Given the description of an element on the screen output the (x, y) to click on. 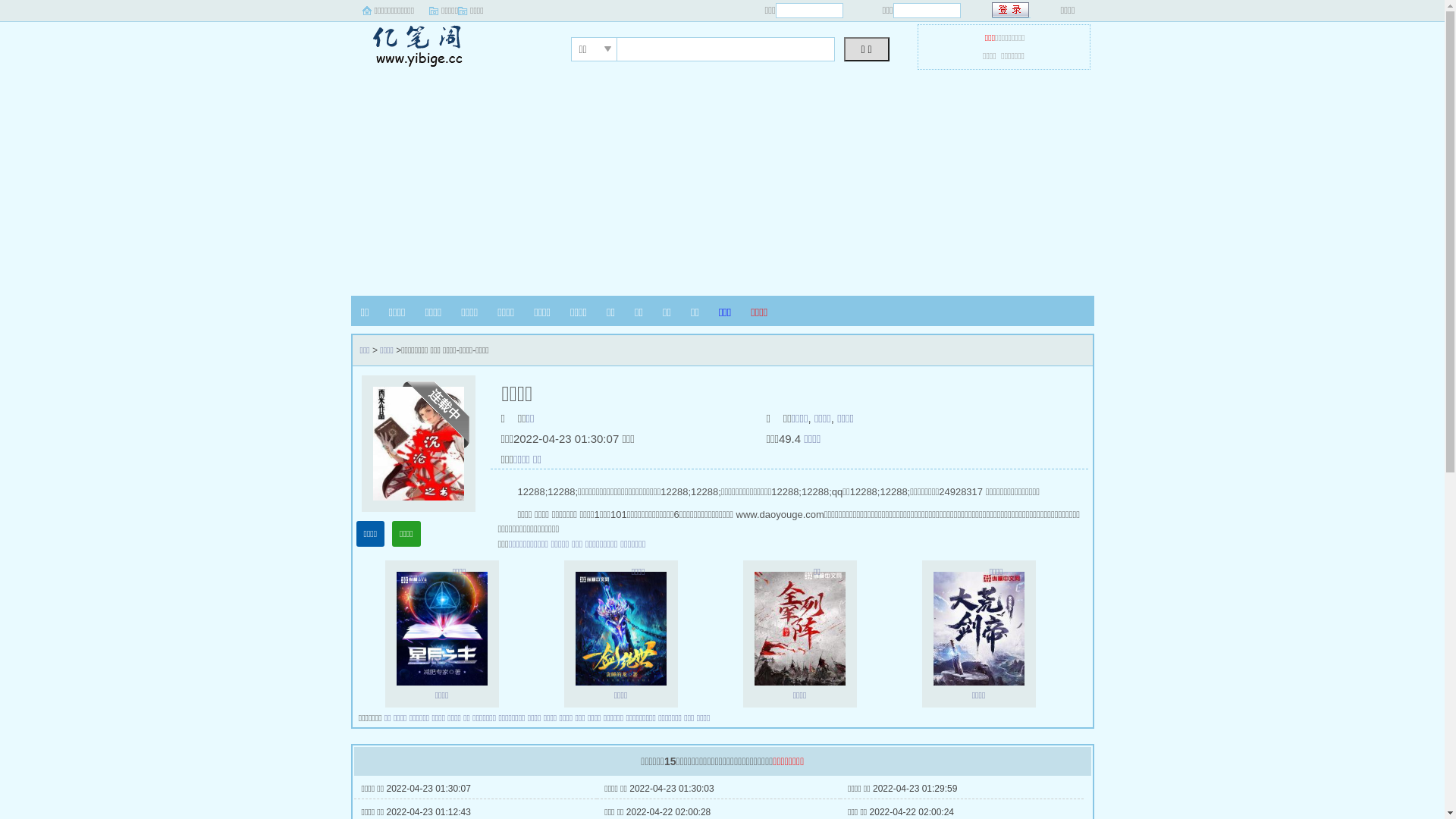
Advertisement Element type: hover (721, 181)
  Element type: text (1010, 10)
